Given the description of an element on the screen output the (x, y) to click on. 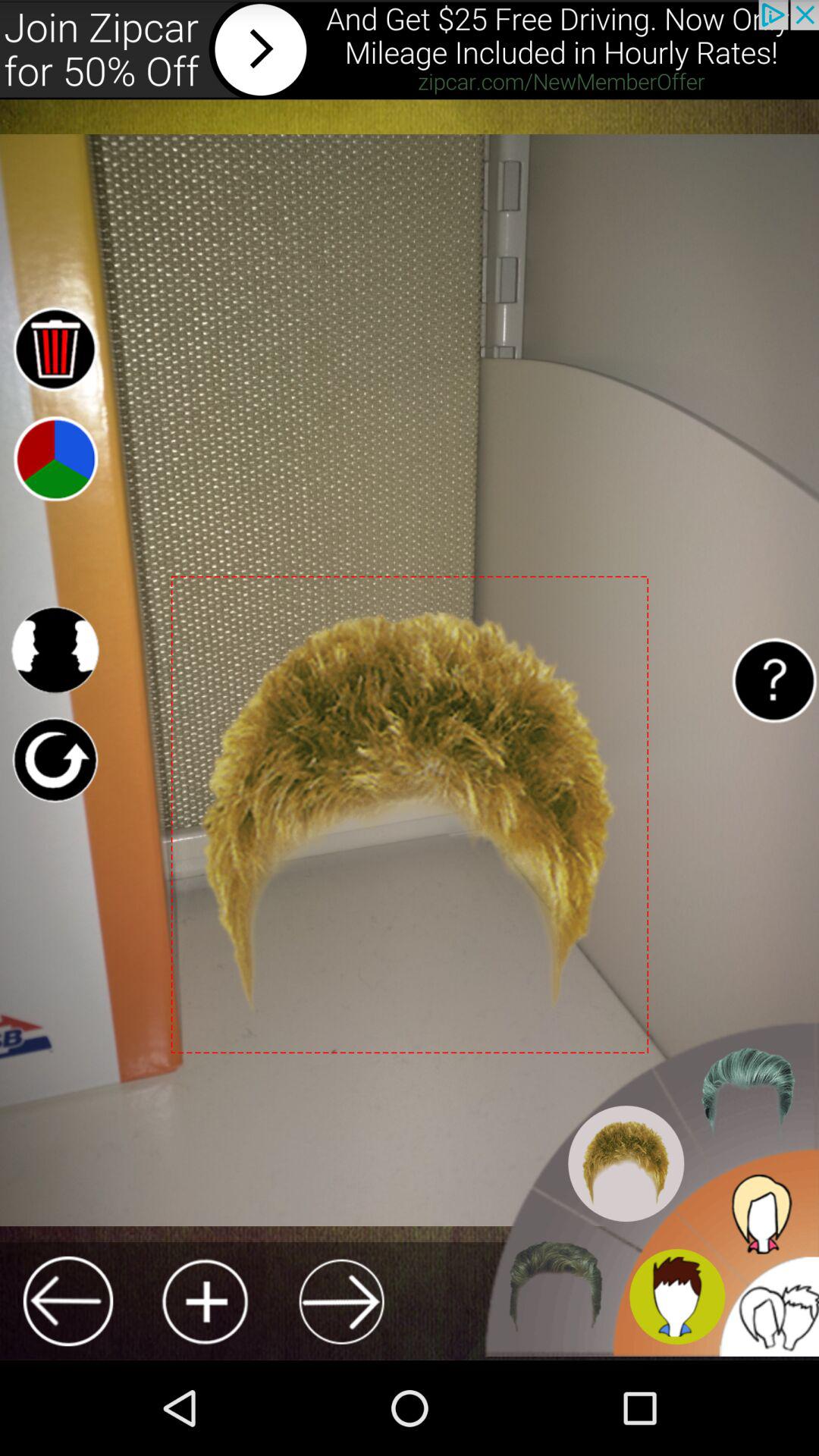
advertisement (409, 49)
